Given the description of an element on the screen output the (x, y) to click on. 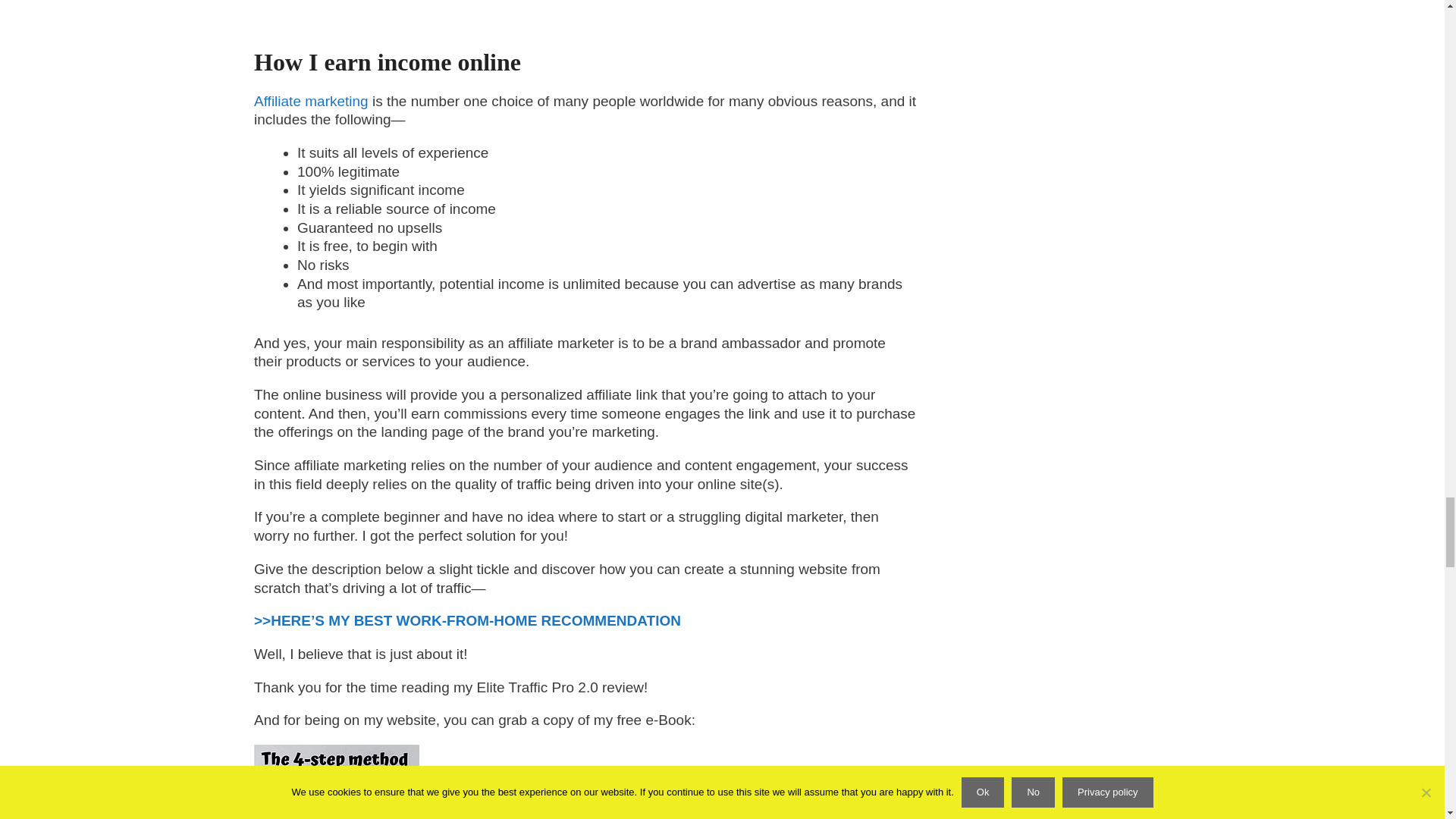
Affiliate marketing (310, 100)
